Given the description of an element on the screen output the (x, y) to click on. 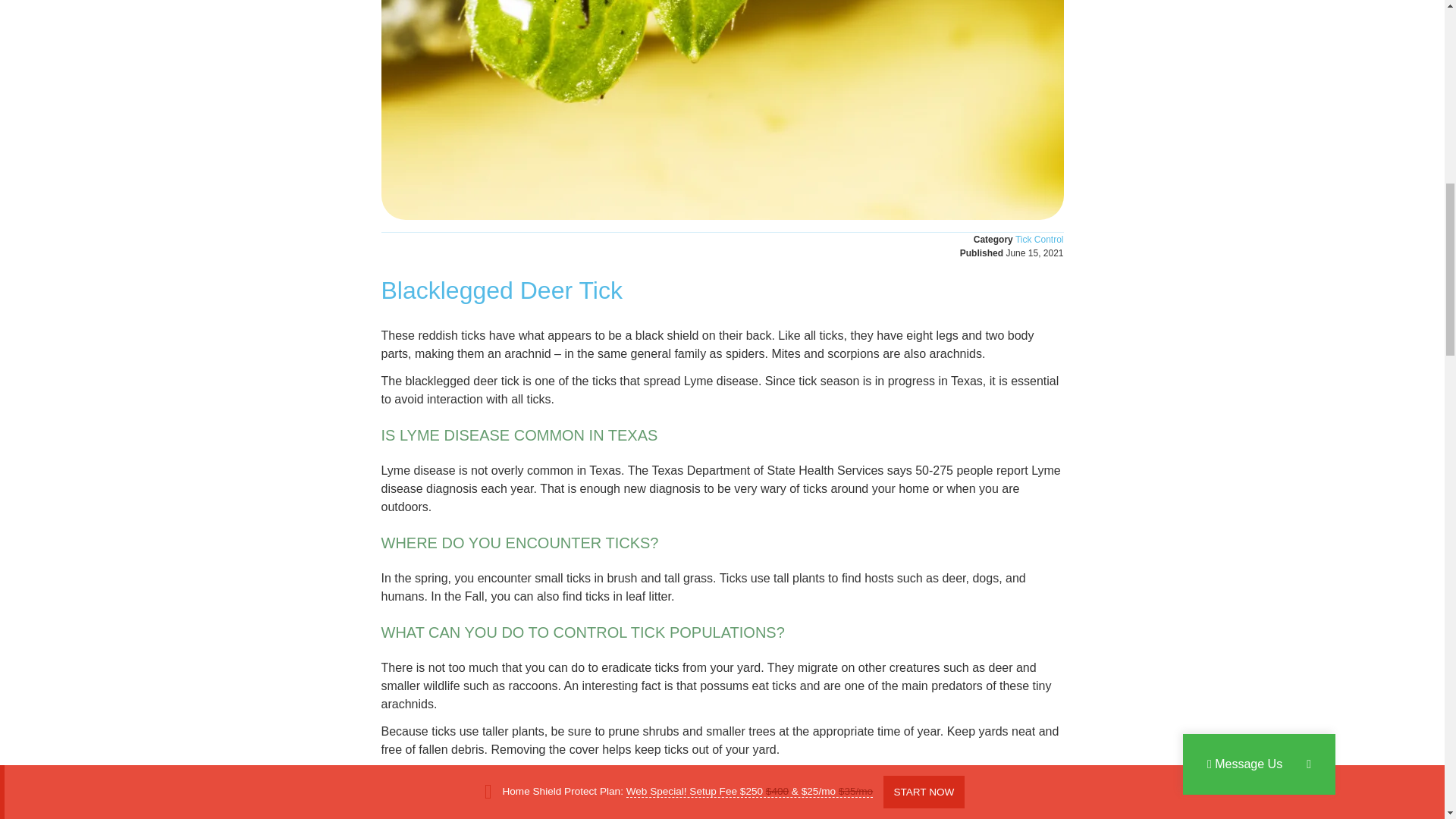
Tick Control (1039, 239)
